Given the description of an element on the screen output the (x, y) to click on. 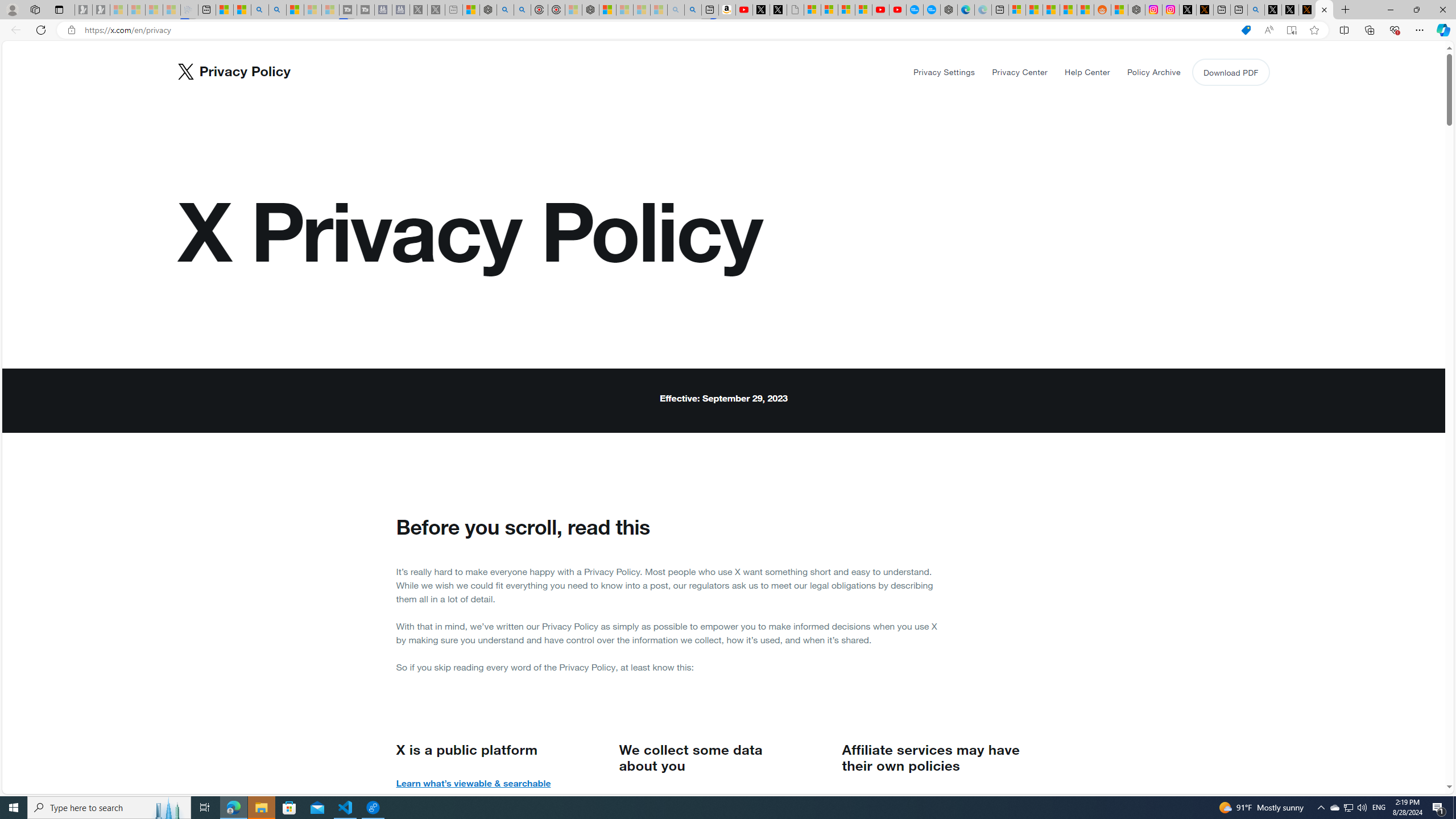
Gloom - YouTube (880, 9)
Privacy Center (1020, 72)
Personal Profile (12, 9)
Nordace - Summer Adventures 2024 (1136, 9)
Workspaces (34, 9)
Copilot (Ctrl+Shift+.) (1442, 29)
Privacy Center (1019, 71)
poe - Search (505, 9)
Tab actions menu (58, 9)
Restore (1416, 9)
